Given the description of an element on the screen output the (x, y) to click on. 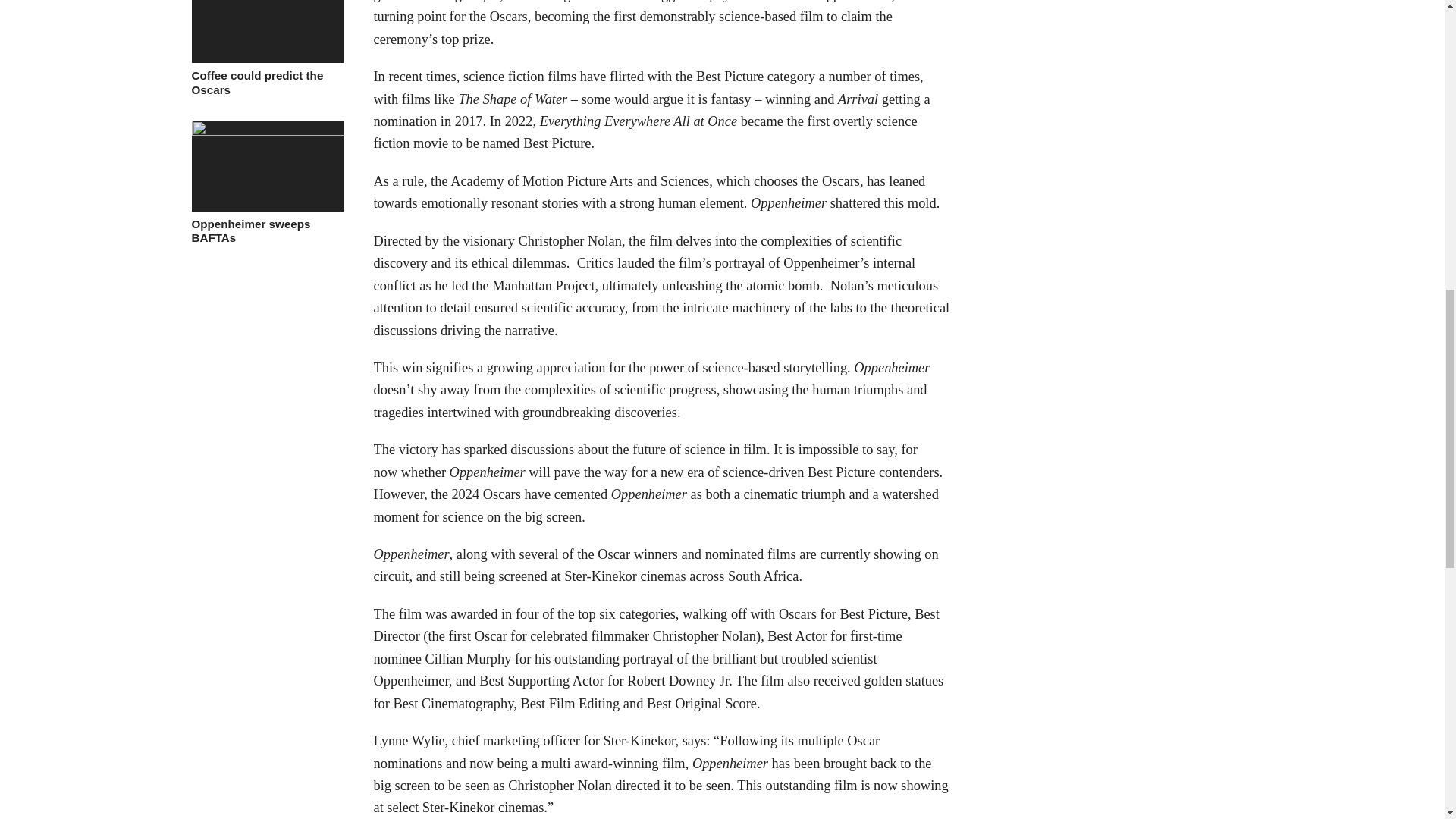
Oppenheimer sweeps BAFTAs (266, 131)
Oppenheimer sweeps BAFTAs (266, 231)
Coffee could predict the Oscars (266, 82)
